Given the description of an element on the screen output the (x, y) to click on. 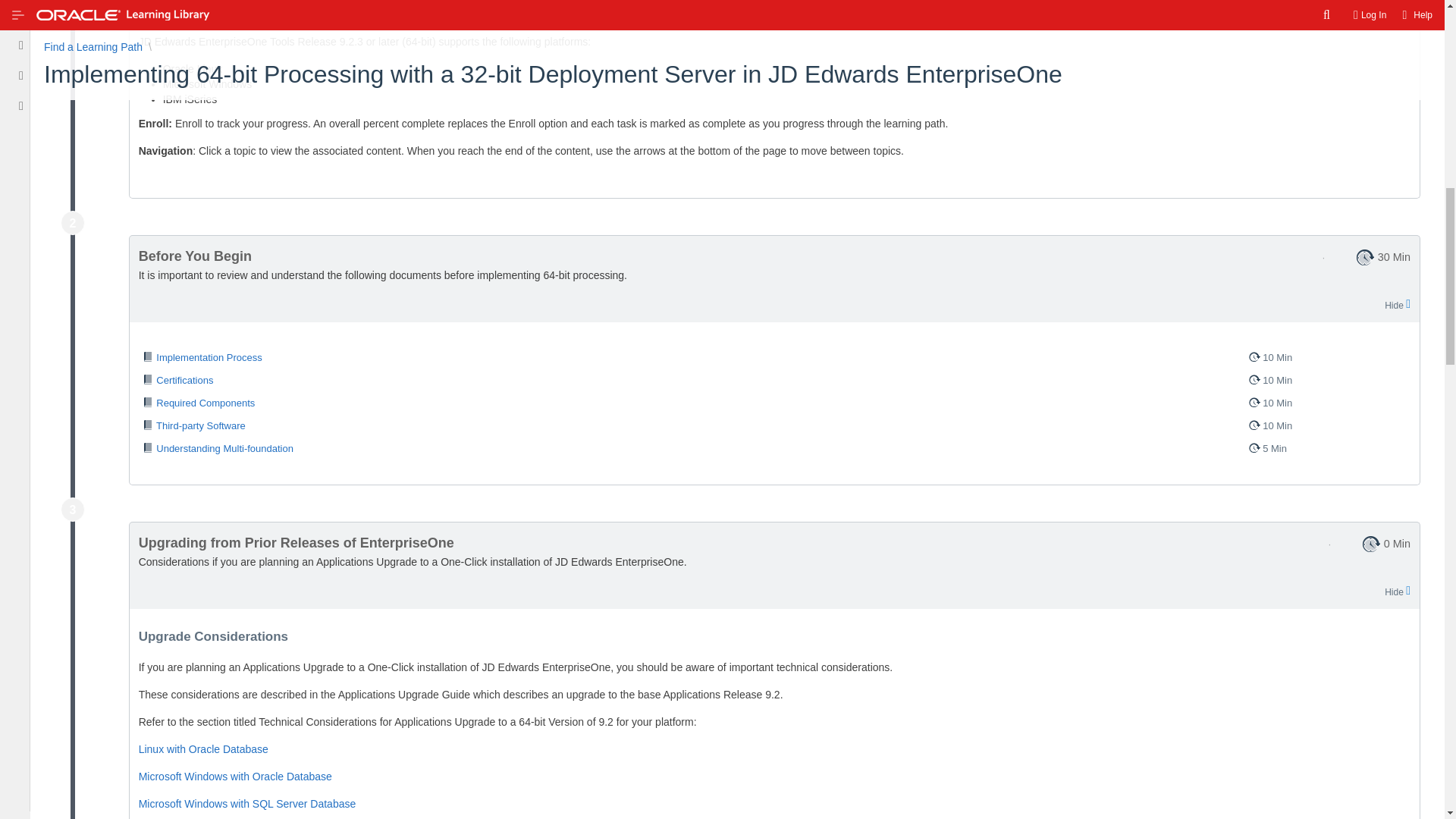
Third-party Software 10 Min (774, 425)
Known Issues (258, 14)
Implementation Process 10 Min (774, 357)
Understanding Multi-foundation 5 Min (774, 448)
Certifications 10 Min (774, 380)
Microsoft Windows with Oracle Database (234, 776)
Linux with Oracle Database (202, 748)
Microsoft Windows with SQL Server Database (247, 803)
Required Components 10 Min (774, 403)
